Given the description of an element on the screen output the (x, y) to click on. 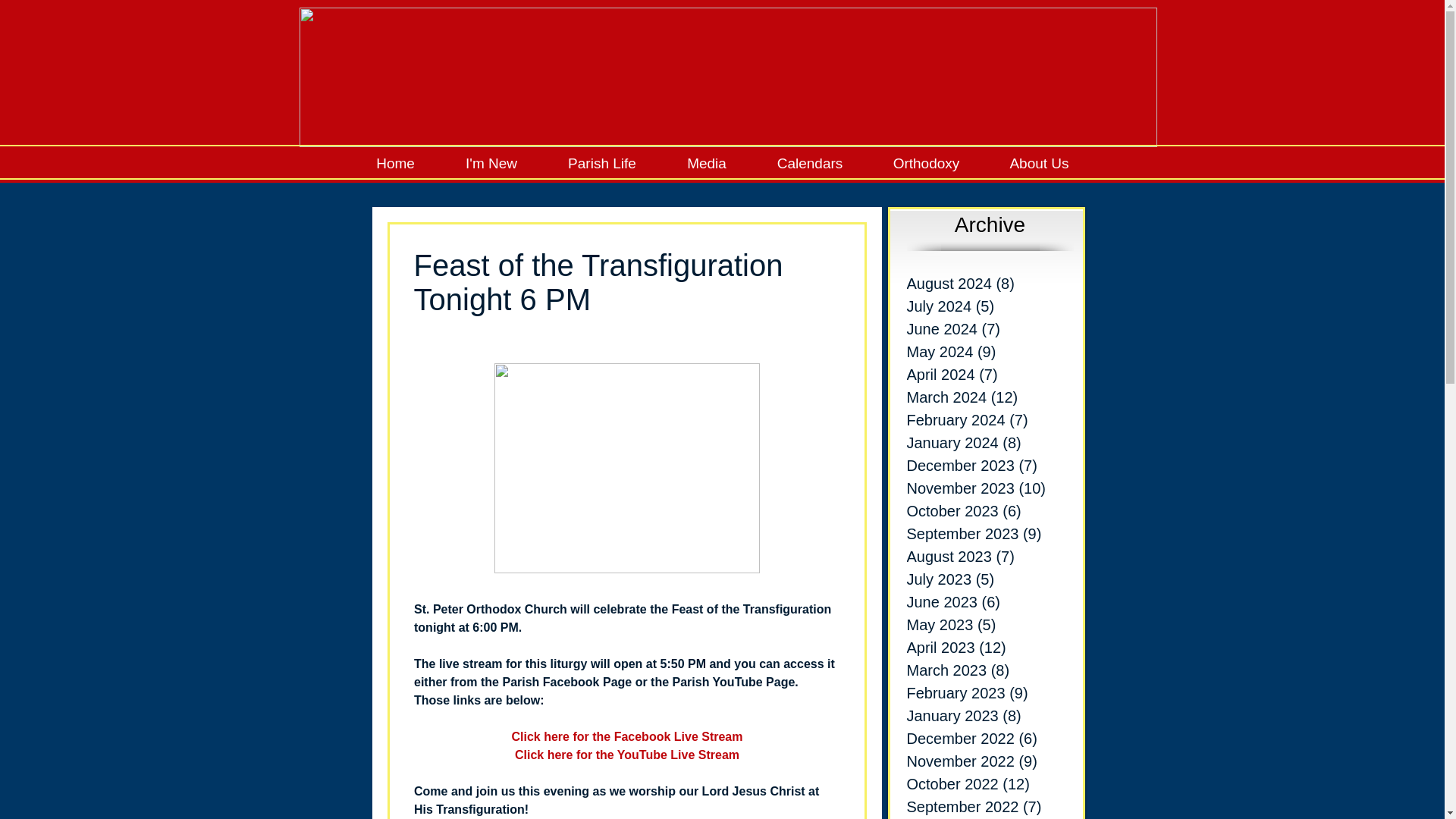
Calendars (809, 163)
Click here for the Facebook Live Stream (626, 735)
Orthodoxy (925, 163)
Home (394, 163)
Media (706, 163)
Click here for the YouTube Live Stream (625, 753)
About Us (1038, 163)
I'm New (490, 163)
Parish Life (602, 163)
